Given the description of an element on the screen output the (x, y) to click on. 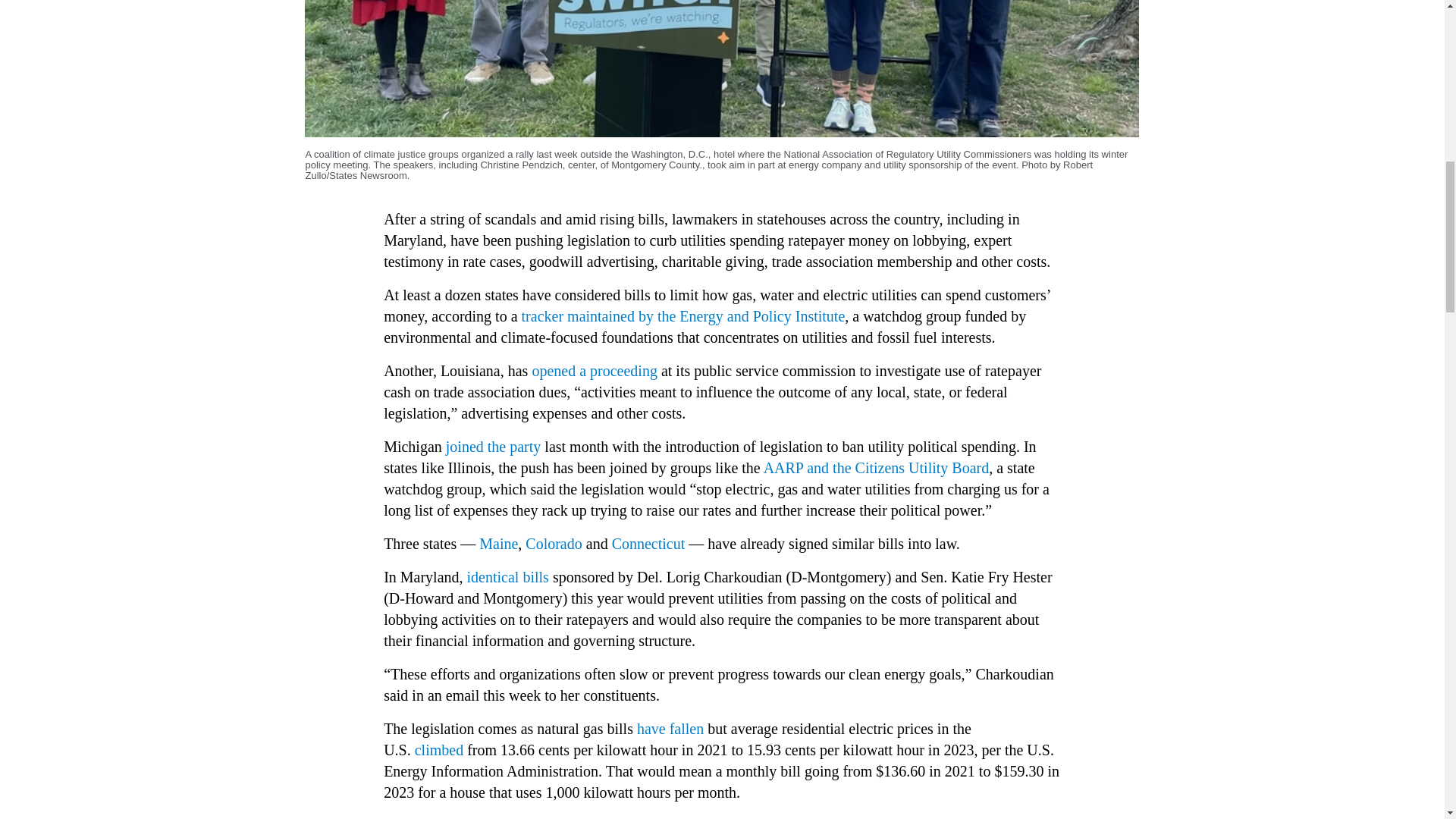
tracker maintained by the Energy and Policy Institute (683, 315)
opened a proceeding  (596, 370)
